Given the description of an element on the screen output the (x, y) to click on. 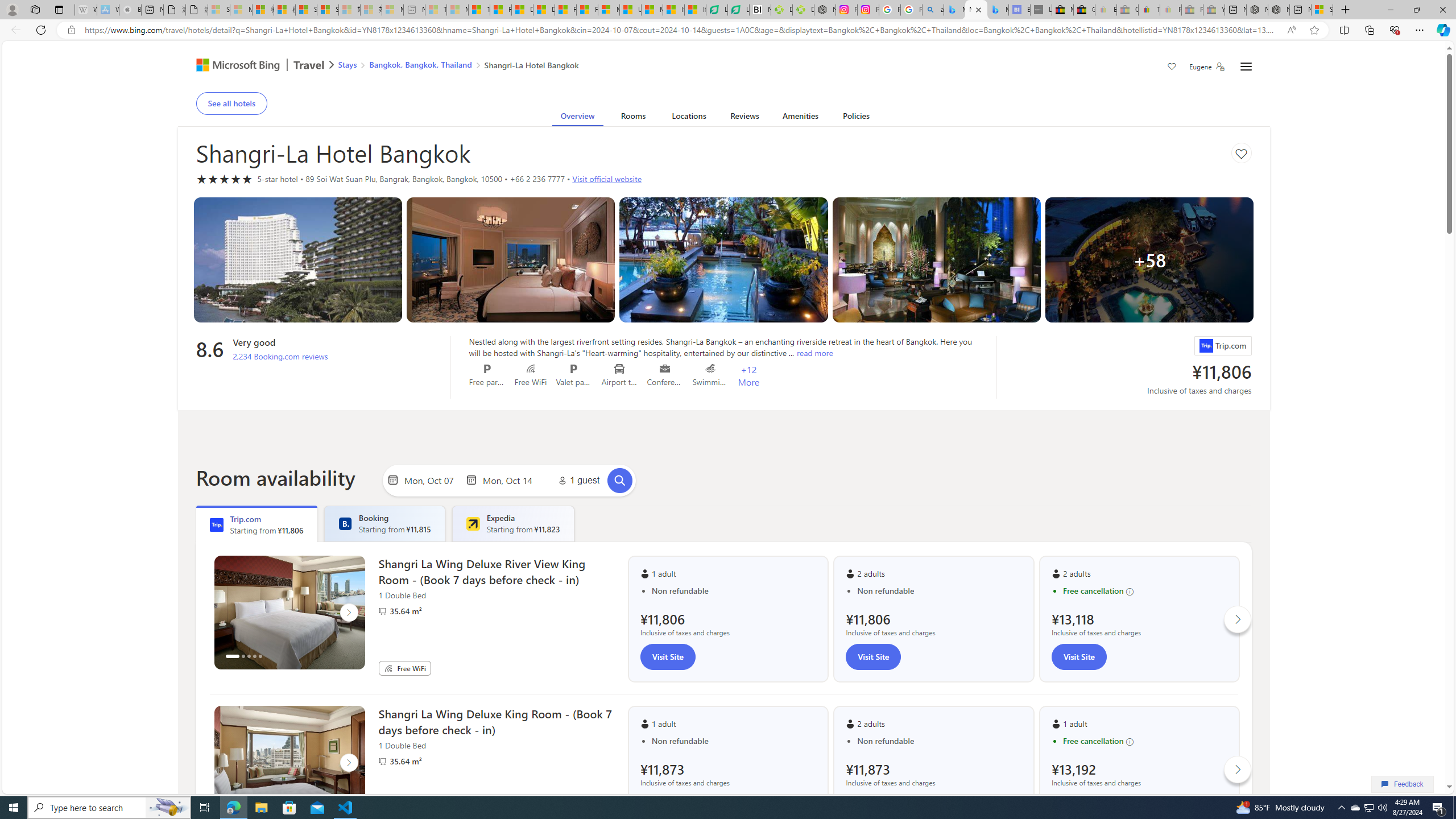
End date (510, 480)
Nordace - Nordace Edin Collection (824, 9)
+12 More Amenities (749, 375)
Free WiFi (387, 668)
Non refundable (939, 740)
Threats and offensive language policy | eBay (1149, 9)
Save (1171, 67)
Save (1171, 67)
